Given the description of an element on the screen output the (x, y) to click on. 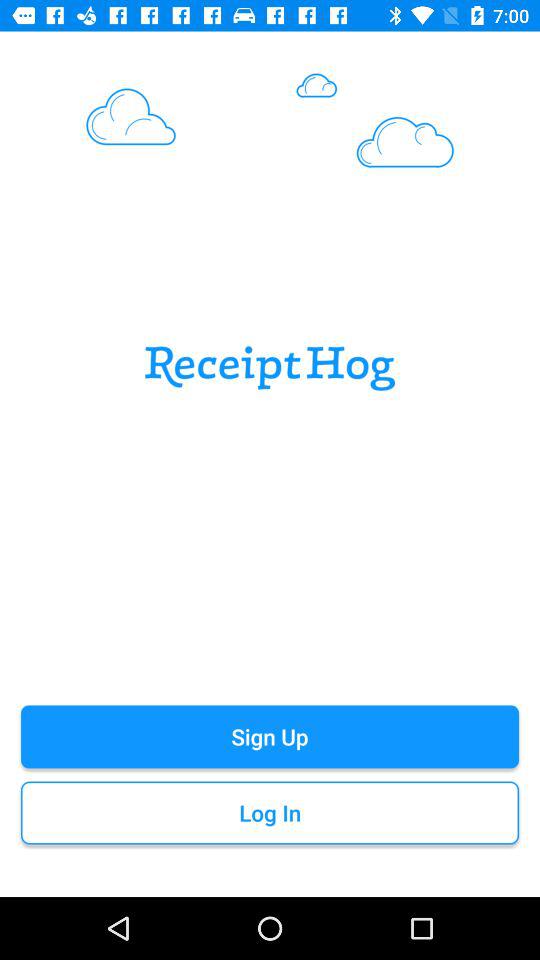
launch the sign up icon (270, 736)
